Given the description of an element on the screen output the (x, y) to click on. 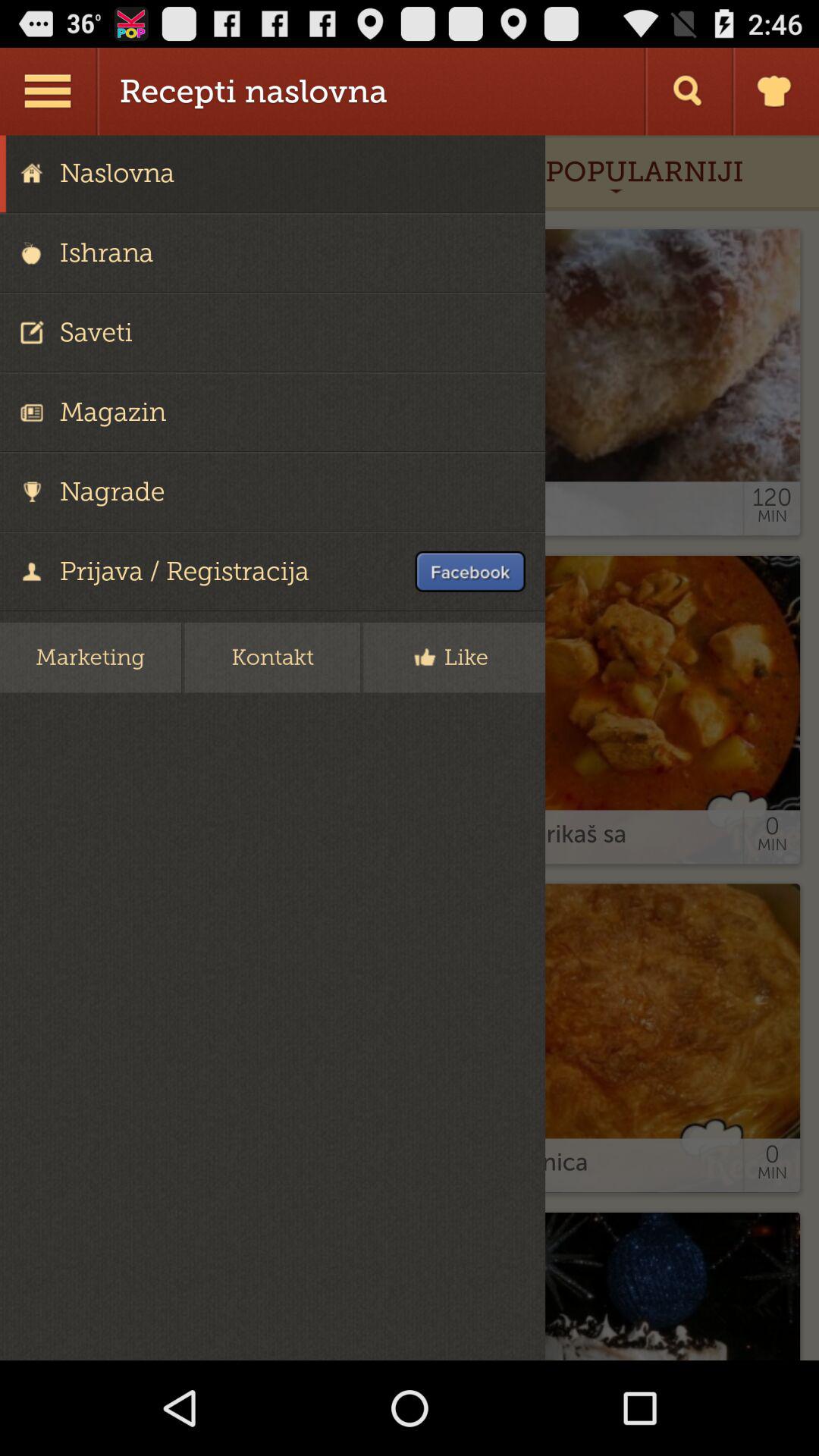
like button (409, 747)
